Given the description of an element on the screen output the (x, y) to click on. 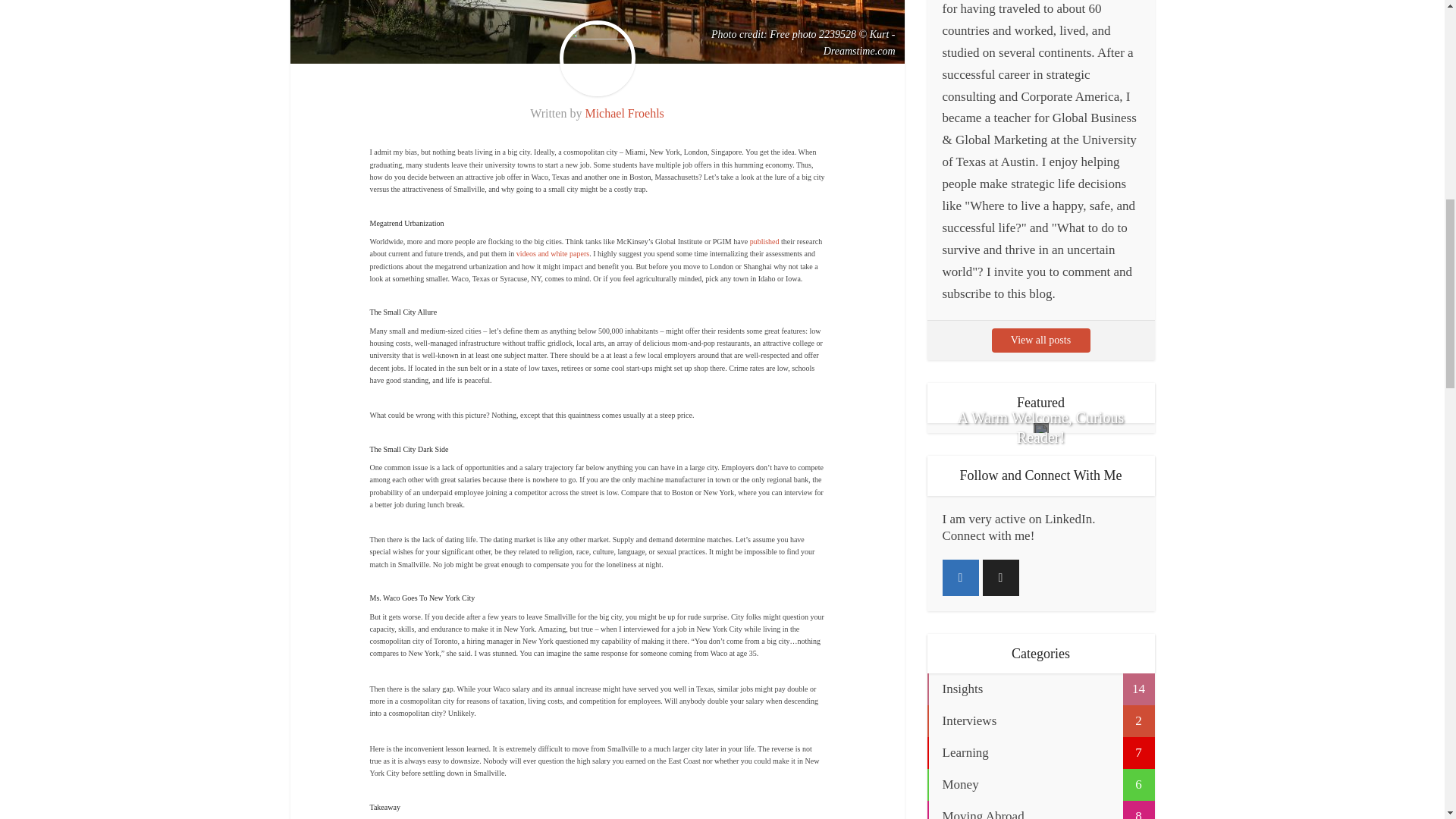
A Warm Welcome, Curious Reader! (1040, 428)
Michael Froehls (624, 113)
published (763, 241)
videos and white papers (552, 253)
